Given the description of an element on the screen output the (x, y) to click on. 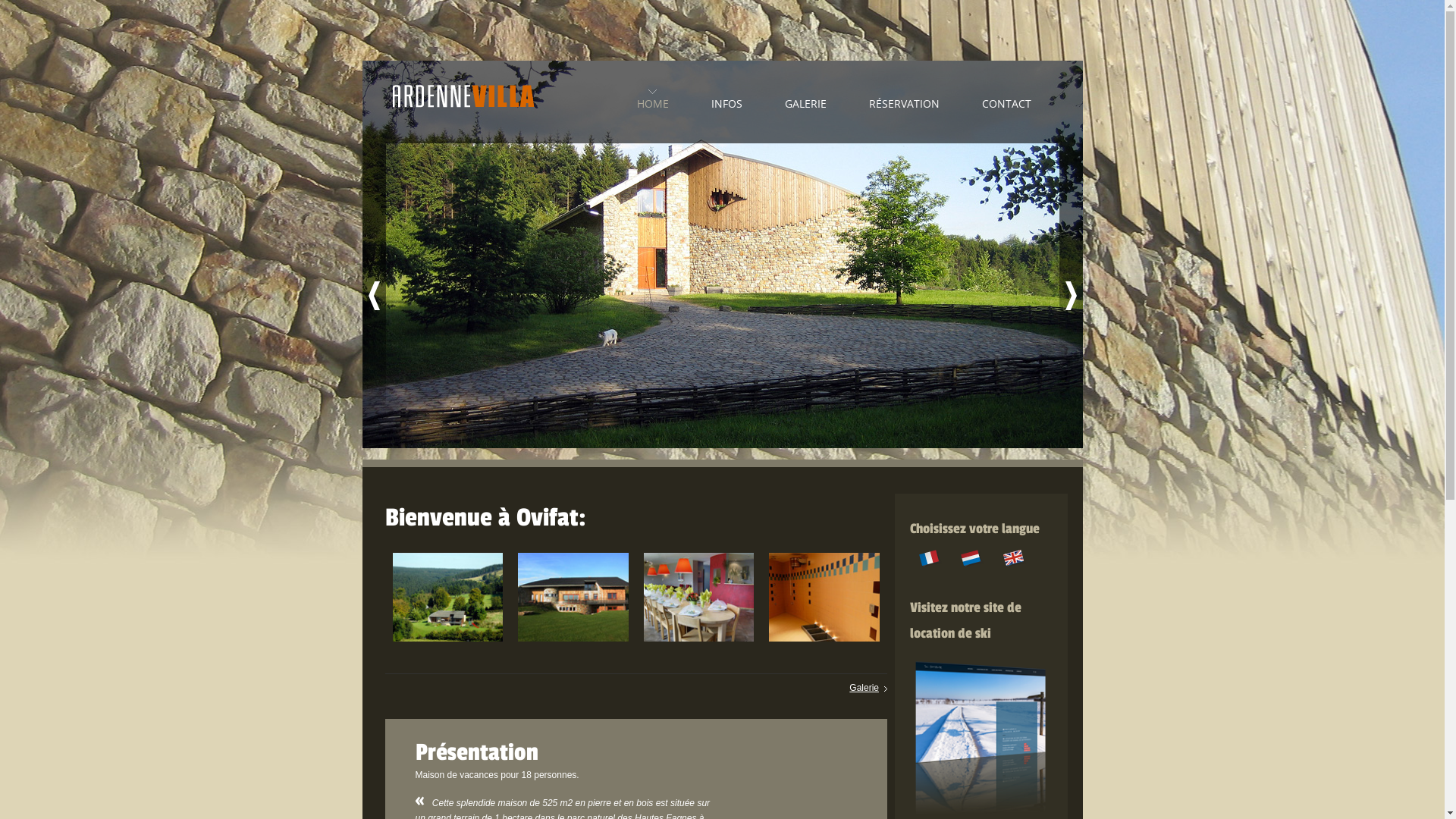
Nederlands Element type: hover (971, 557)
INFOS Element type: text (726, 99)
Galerie Element type: text (868, 687)
CONTACT Element type: text (1005, 99)
GALERIE Element type: text (804, 99)
Ardenne Villa Element type: text (463, 102)
Ski Botrange Element type: hover (981, 659)
HOME Element type: text (652, 99)
English Element type: hover (1013, 557)
